Given the description of an element on the screen output the (x, y) to click on. 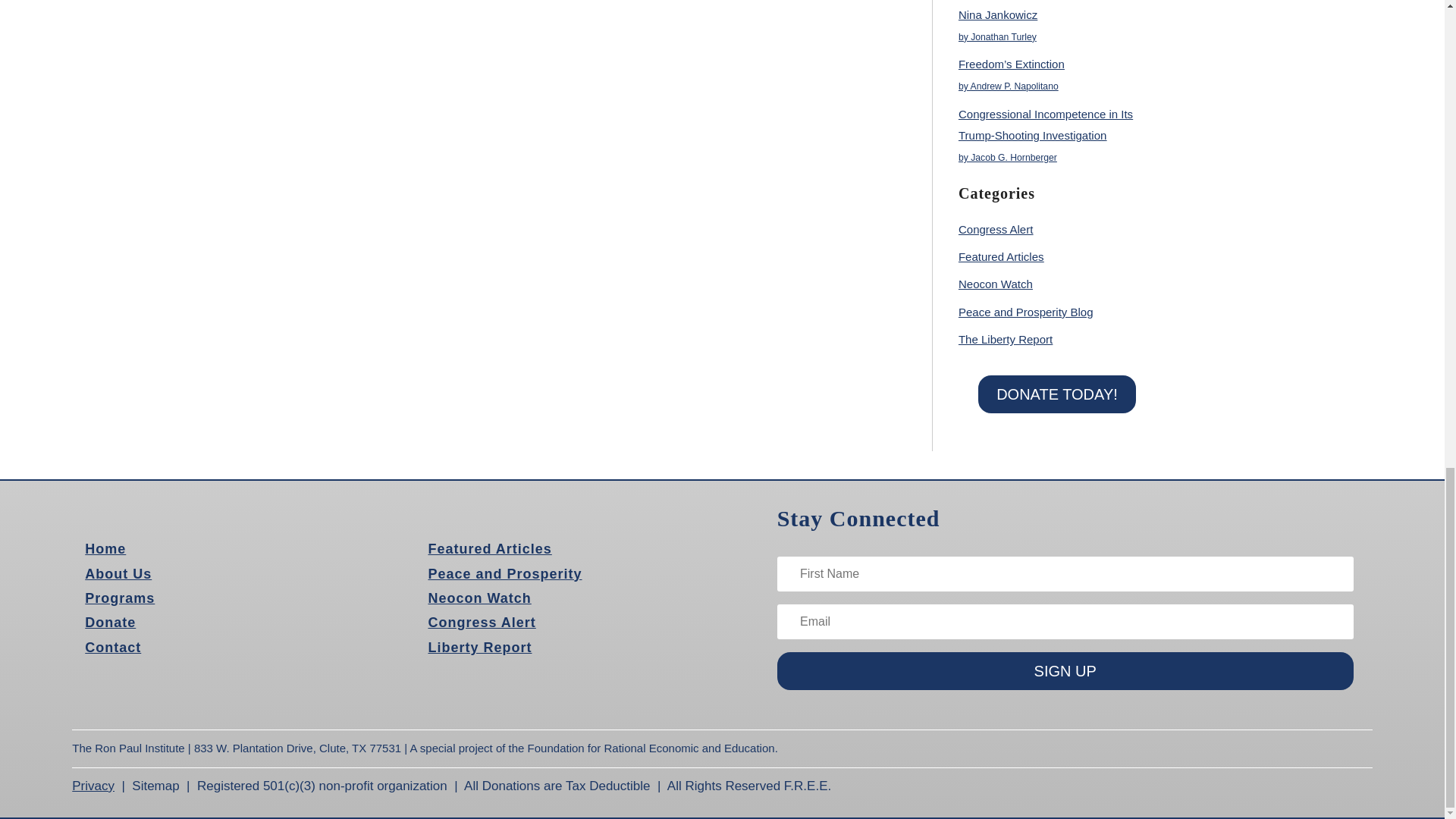
Review our Privacy Policy (93, 785)
